Given the description of an element on the screen output the (x, y) to click on. 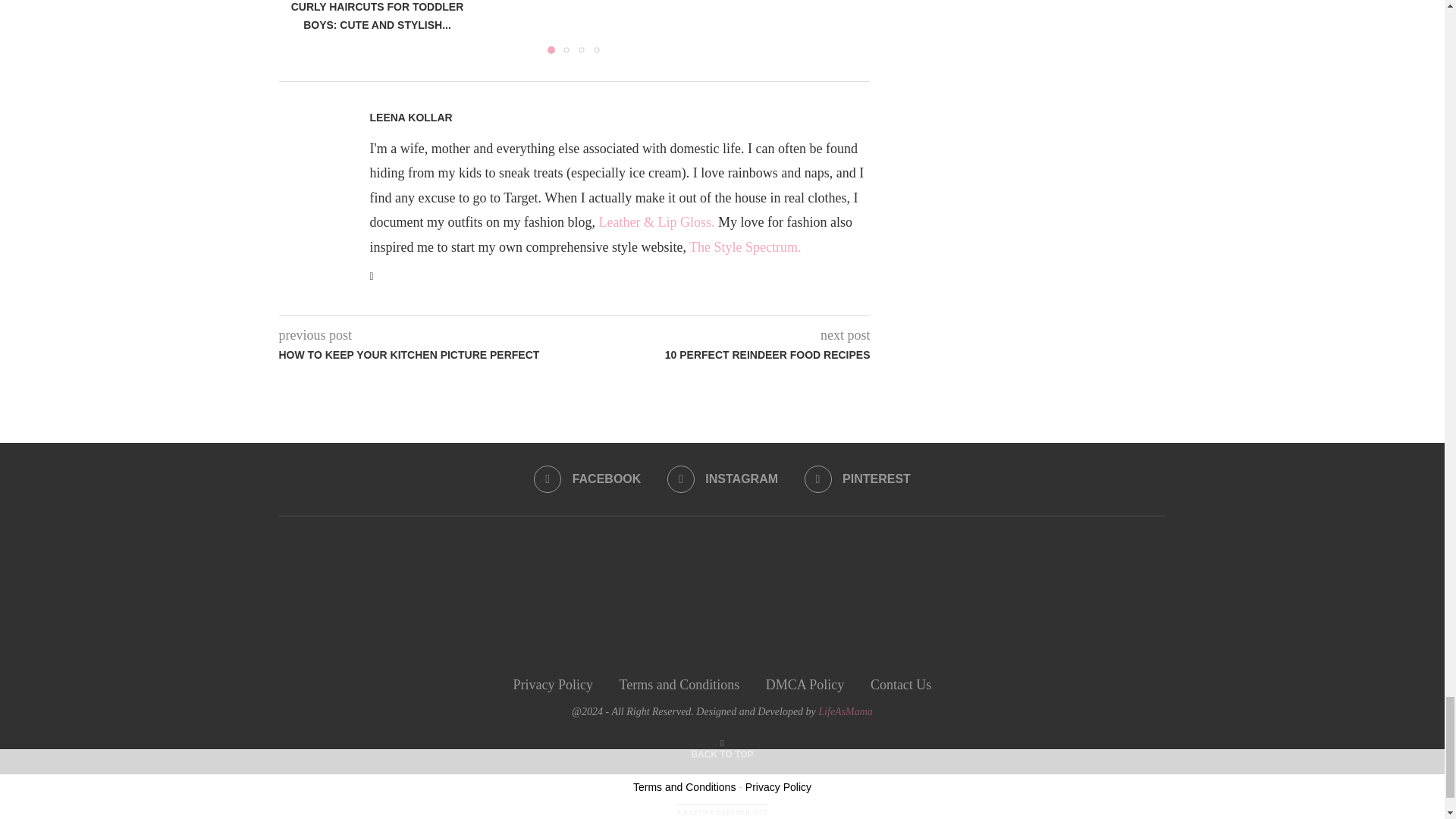
Author Leena Kollar (410, 117)
